Given the description of an element on the screen output the (x, y) to click on. 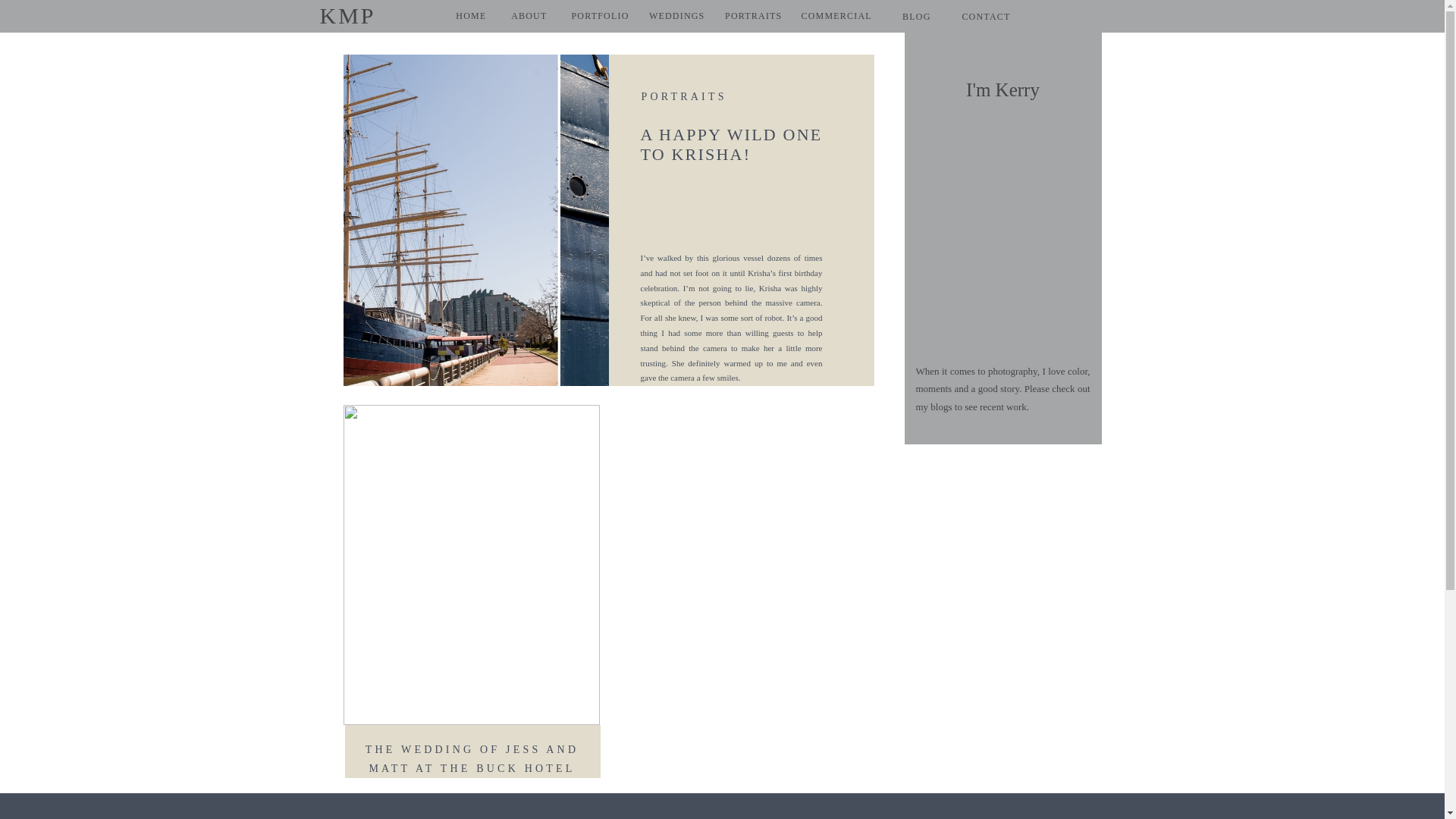
WEDDINGS (667, 15)
PORTRAITS (684, 96)
CONTACT (975, 16)
PORTRAITS (746, 15)
THE WEDDING OF JESS AND MATT AT THE BUCK HOTEL (471, 758)
BLOG (909, 16)
COMMERCIAL (835, 15)
A HAPPY WILD ONE TO KRISHA! (731, 144)
ABOUT (521, 15)
HOME (462, 15)
PORTFOLIO (593, 15)
